Given the description of an element on the screen output the (x, y) to click on. 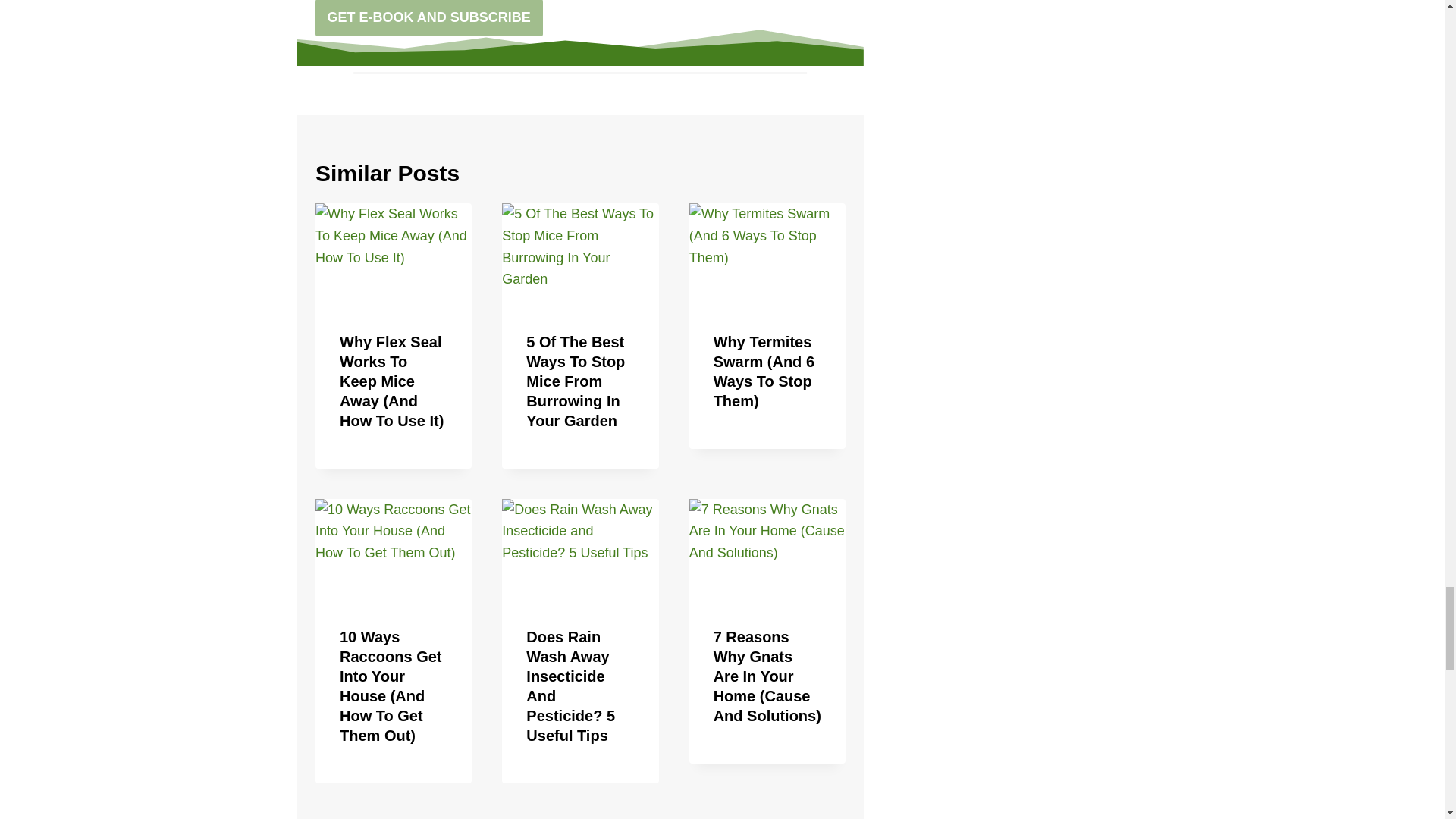
GET E-BOOK AND SUBSCRIBE (429, 18)
